Given the description of an element on the screen output the (x, y) to click on. 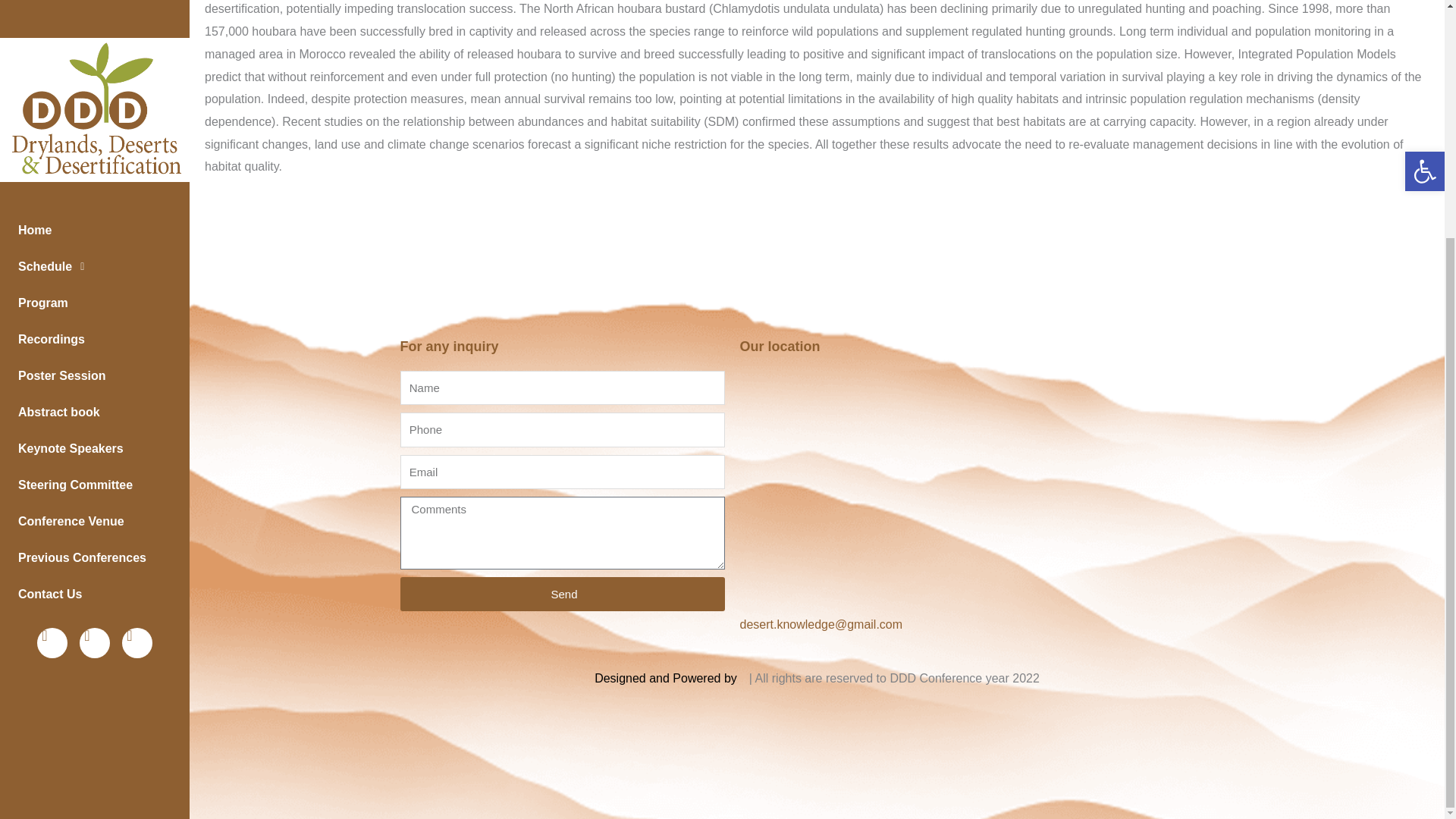
Steering Committee (94, 159)
Abstract book (94, 86)
Previous Conferences (94, 232)
Conference Venue (94, 196)
Keynote Speakers (94, 123)
Linkedin (137, 317)
Contact Us (94, 268)
Facebook (51, 317)
Midreshet Ben-Gurion (986, 484)
Recordings (94, 16)
